Given the description of an element on the screen output the (x, y) to click on. 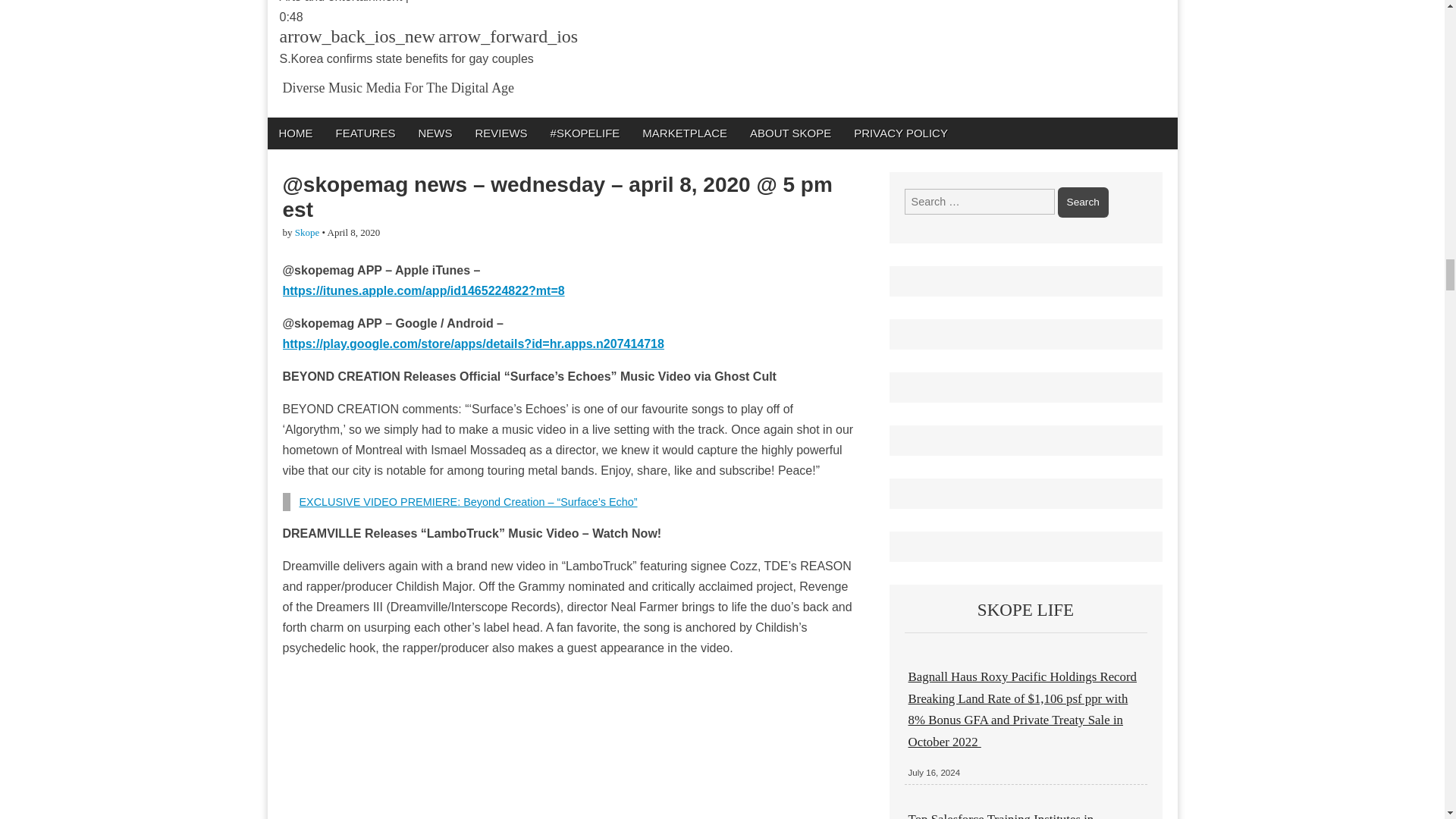
HOME (294, 132)
MARKETPLACE (684, 132)
PRIVACY POLICY (901, 132)
Search (1083, 202)
Posts by Skope (307, 232)
FEATURES (365, 132)
NEWS (434, 132)
Skope (307, 232)
Search (1083, 202)
Search (1083, 202)
REVIEWS (500, 132)
ABOUT SKOPE (790, 132)
